Given the description of an element on the screen output the (x, y) to click on. 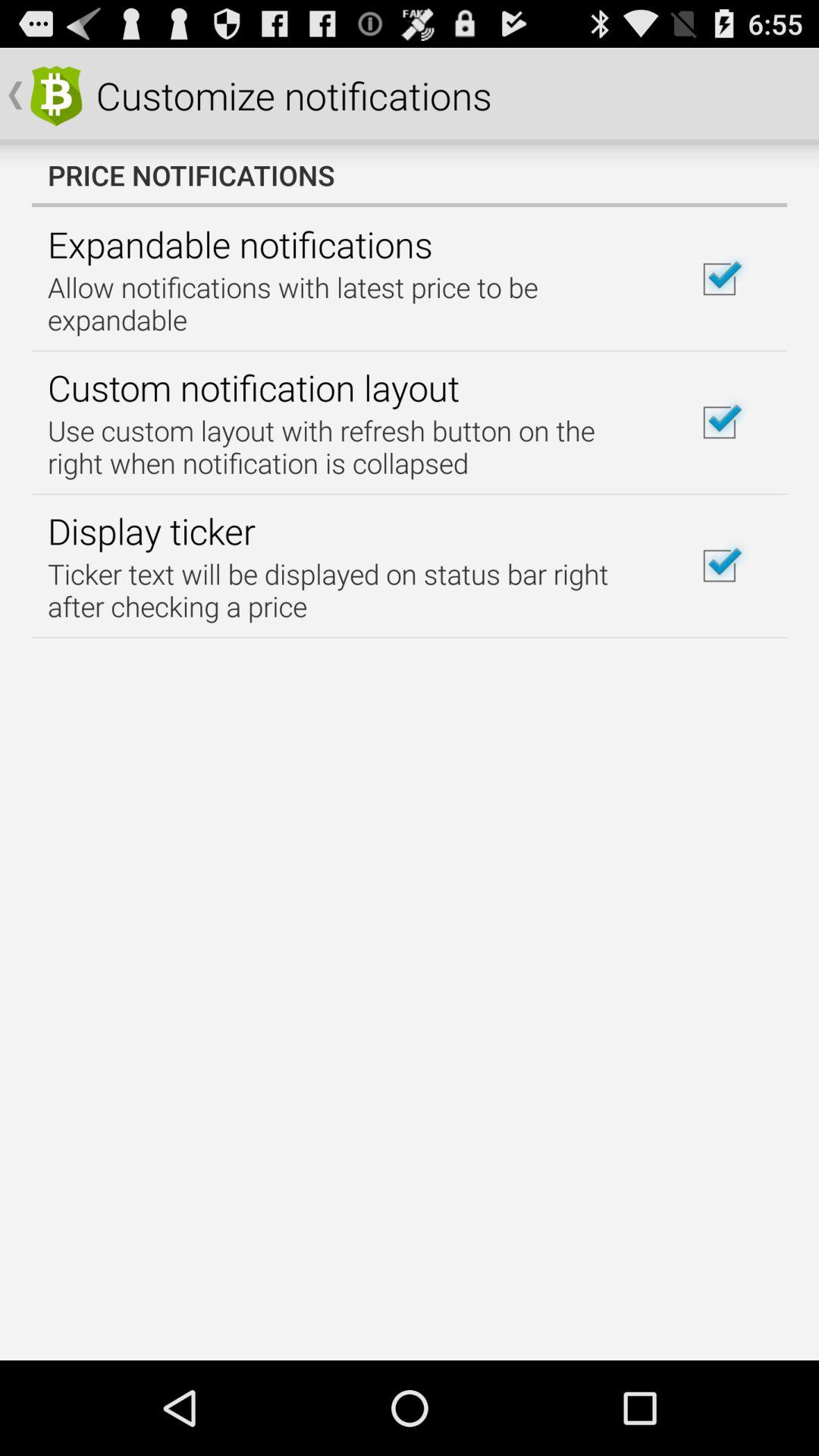
jump to the ticker text will (351, 590)
